Given the description of an element on the screen output the (x, y) to click on. 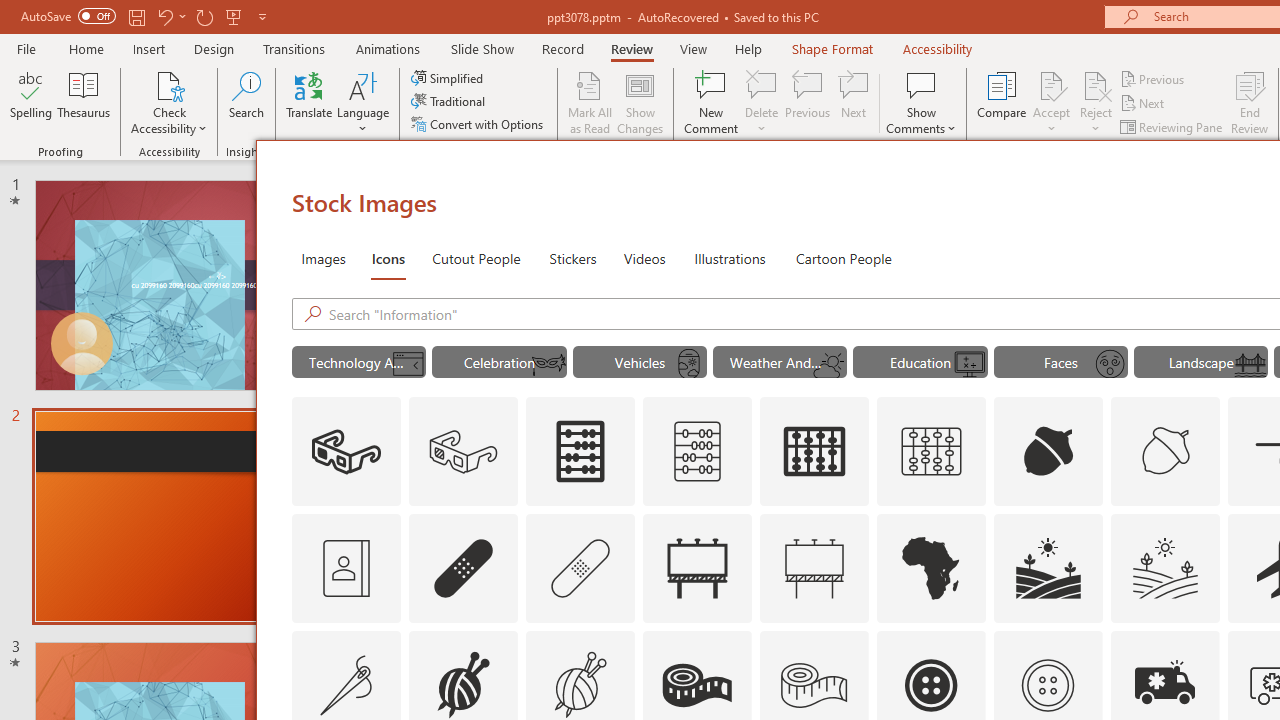
AutomationID: Icons_3dGlasses (346, 452)
AutomationID: Icons_Acorn (1048, 452)
AutomationID: Icons_Agriculture_M (1165, 568)
AutomationID: Icons_Advertising_M (815, 568)
AutomationID: Icons_RemoteLearningMath_M (970, 364)
